Given the description of an element on the screen output the (x, y) to click on. 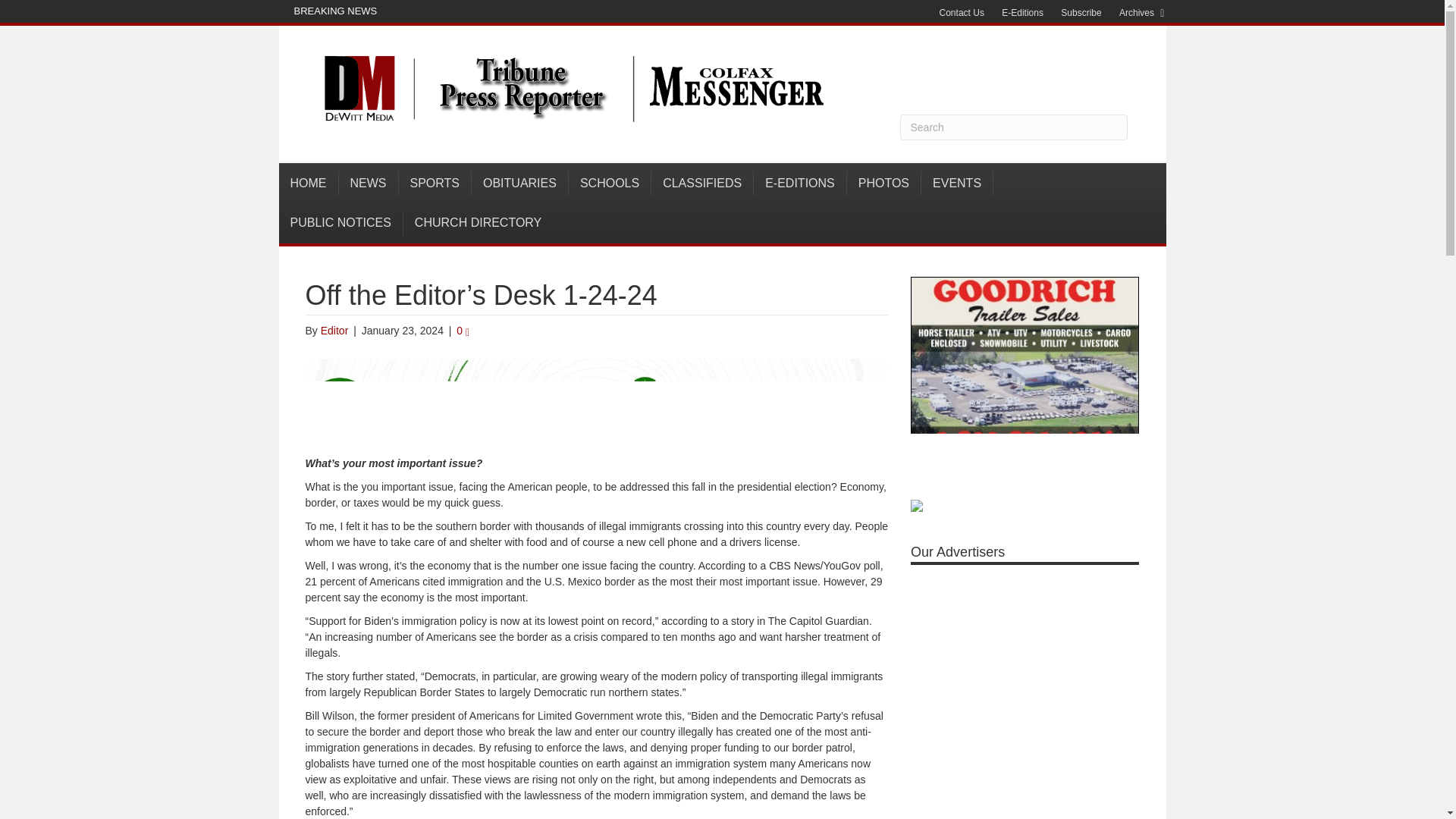
HOME (309, 183)
E-Editions (1022, 13)
Subscribe (1080, 13)
Archives (1136, 13)
Type and press Enter to search. (1012, 127)
NEWS (367, 183)
Contact Us (961, 13)
